Given the description of an element on the screen output the (x, y) to click on. 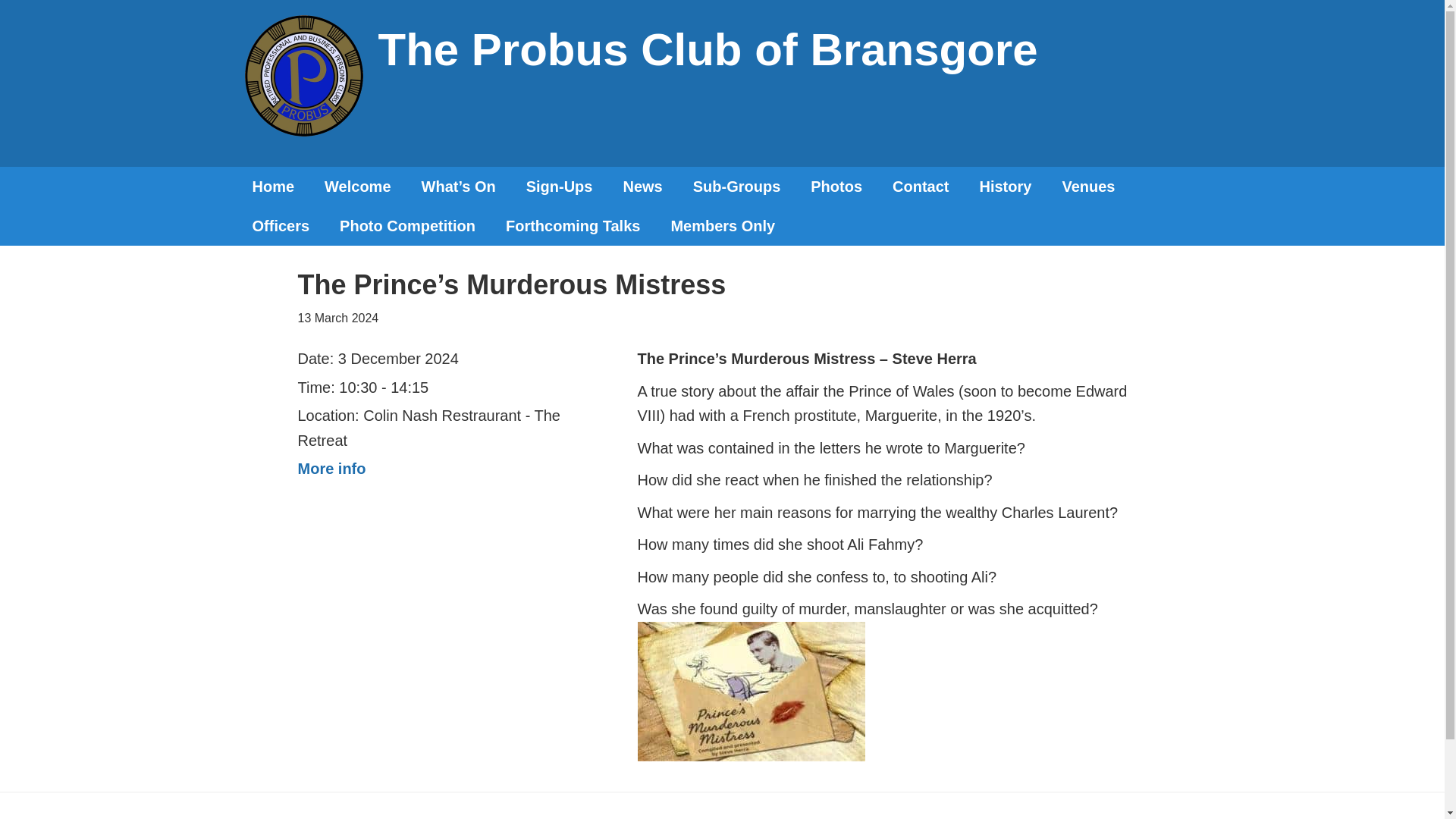
More info (331, 468)
Sub-Groups (737, 186)
News (642, 186)
Home (271, 186)
History (1004, 186)
Photos (835, 186)
Photo Competition (407, 225)
Officers (279, 225)
Sign-Ups (559, 186)
